Given the description of an element on the screen output the (x, y) to click on. 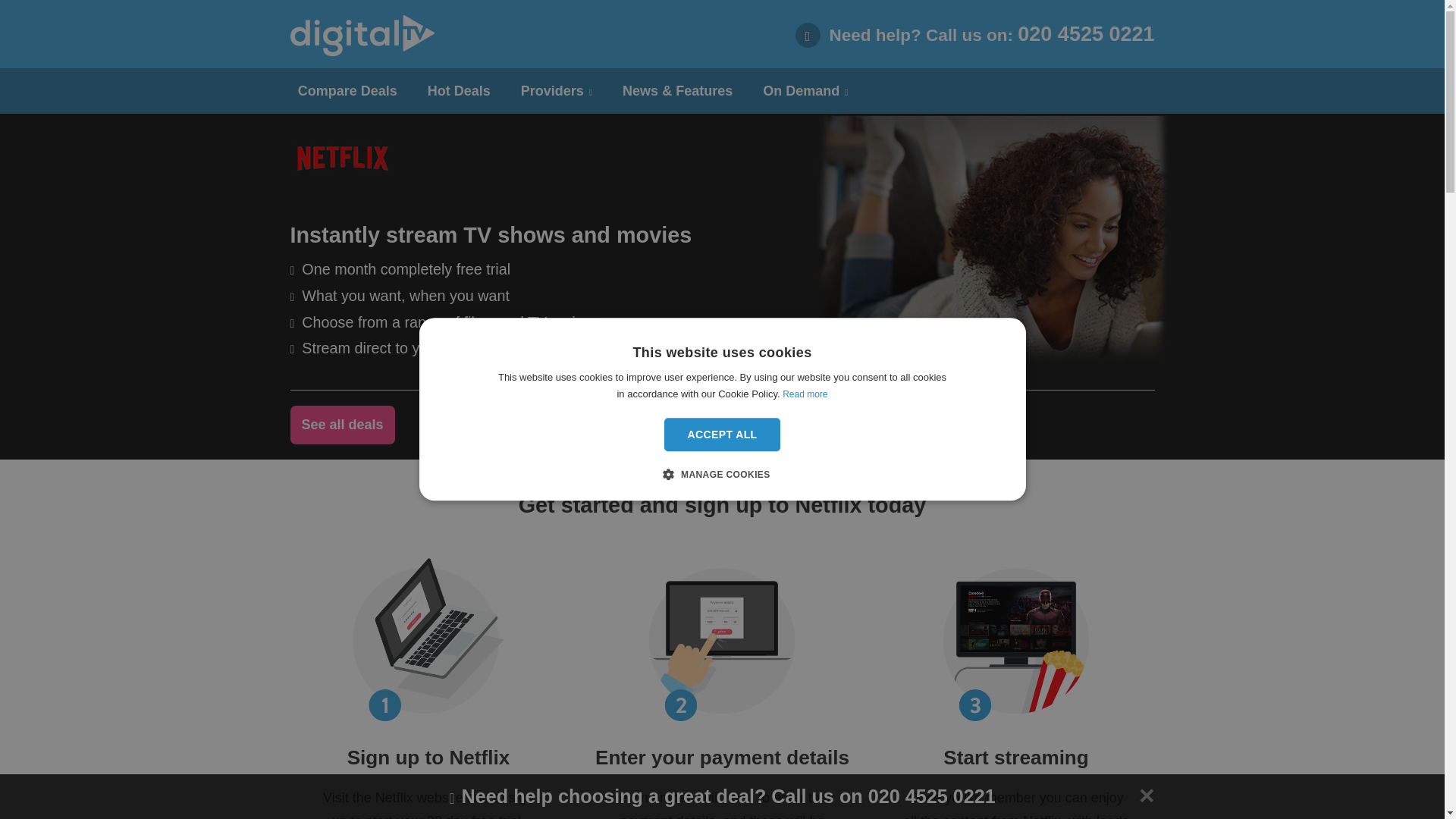
Provider lead image (964, 268)
See all deals (341, 424)
Compare Deals (347, 90)
Hot Deals (458, 90)
Providers (556, 91)
020 4525 0221 (1085, 33)
On Demand (805, 91)
